Given the description of an element on the screen output the (x, y) to click on. 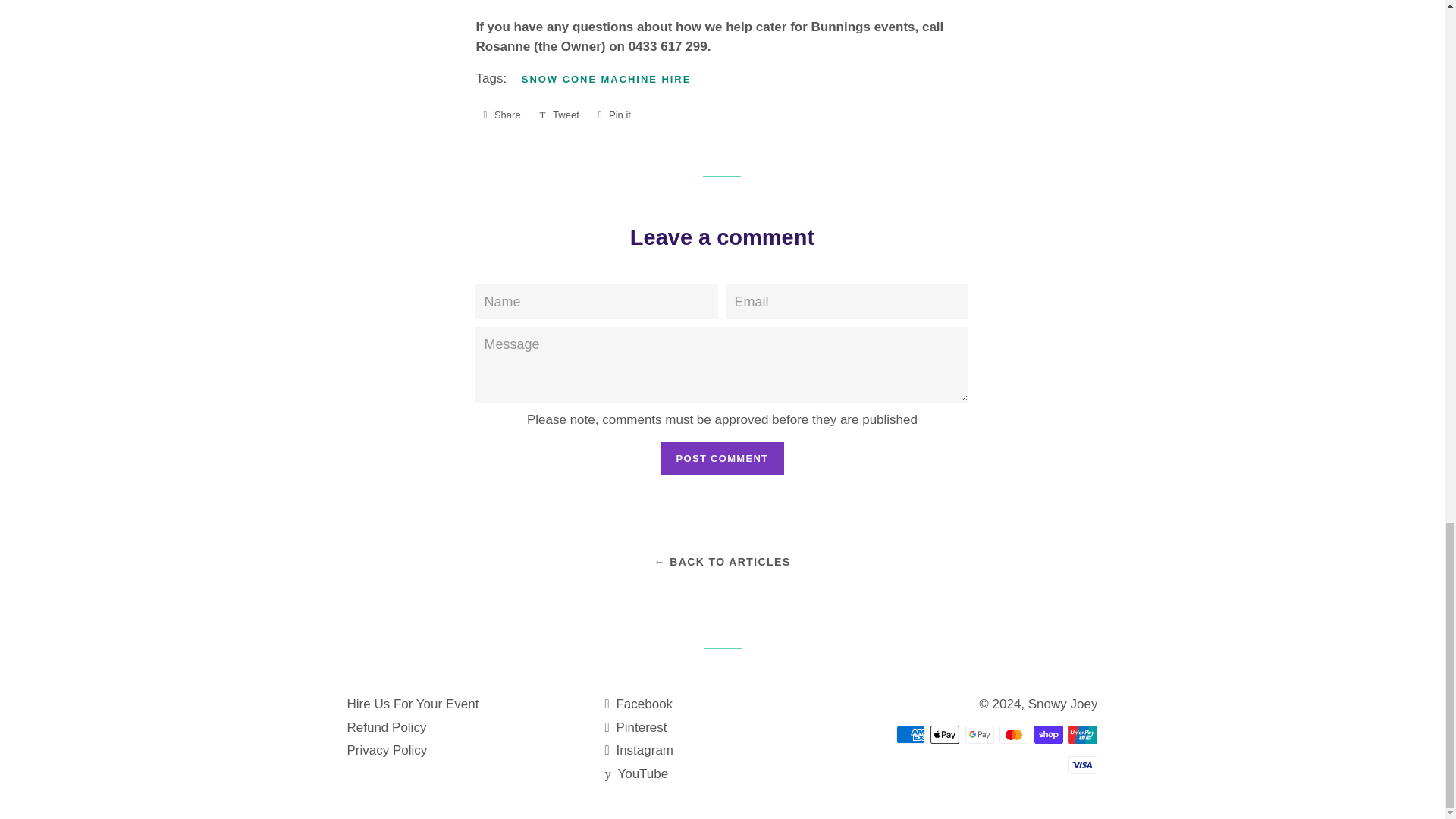
American Express (910, 734)
Google Pay (979, 734)
Share on Facebook (613, 115)
Snowy Joey on Instagram (501, 115)
Pin on Pinterest (638, 749)
Apple Pay (558, 115)
Post comment (613, 115)
